Given the description of an element on the screen output the (x, y) to click on. 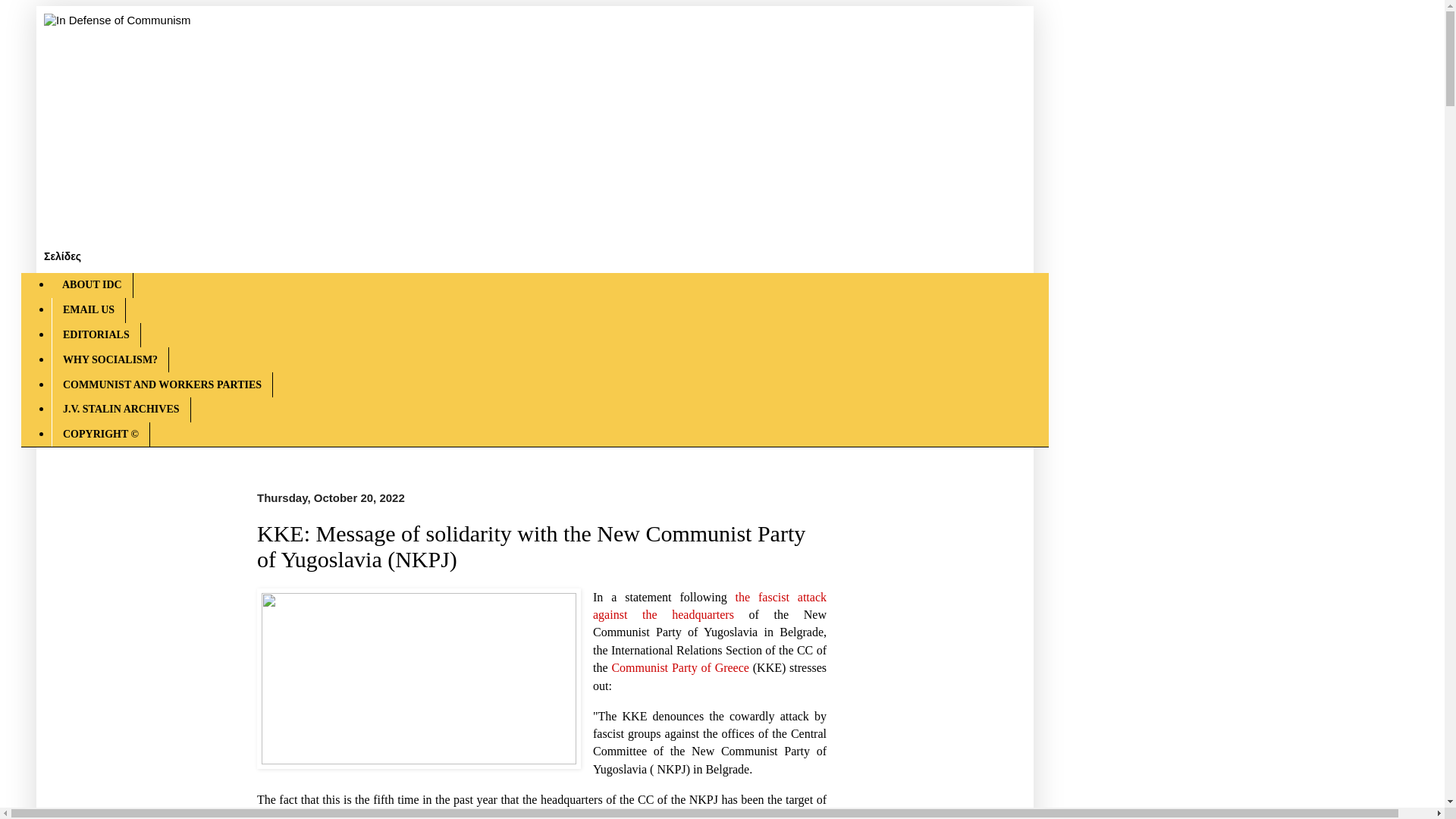
EMAIL US (87, 310)
EDITORIALS (95, 335)
COMMUNIST AND WORKERS PARTIES (161, 384)
the fascist attack against the headquarters (709, 605)
ABOUT IDC (91, 285)
J.V. STALIN ARCHIVES (120, 409)
WHY SOCIALISM? (109, 359)
Communist Party of Greece (680, 667)
